Given the description of an element on the screen output the (x, y) to click on. 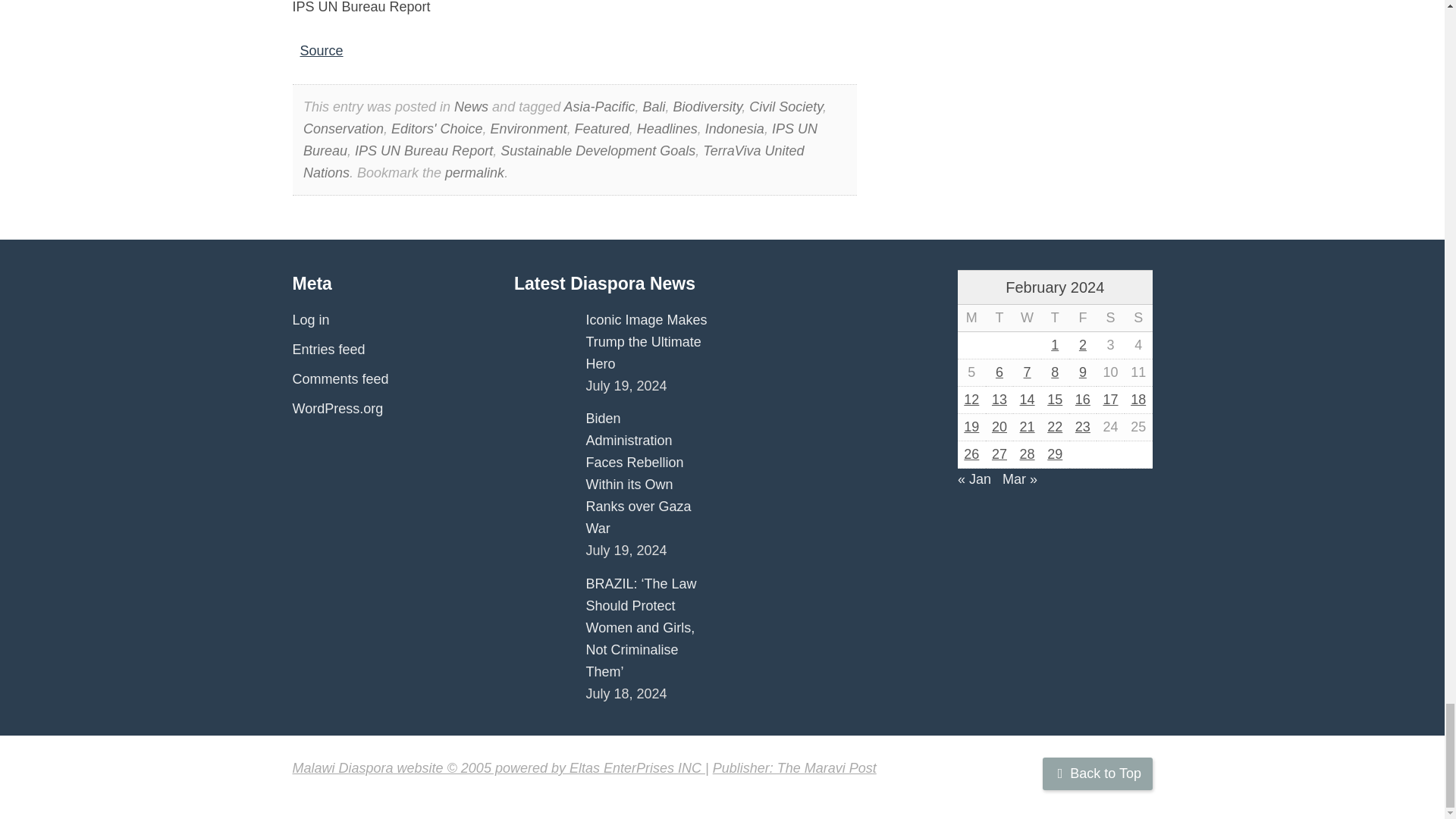
Saturday (1110, 317)
Friday (1082, 317)
Tuesday (999, 317)
Sunday (1138, 317)
Thursday (1054, 317)
Wednesday (1027, 317)
Monday (971, 317)
